Given the description of an element on the screen output the (x, y) to click on. 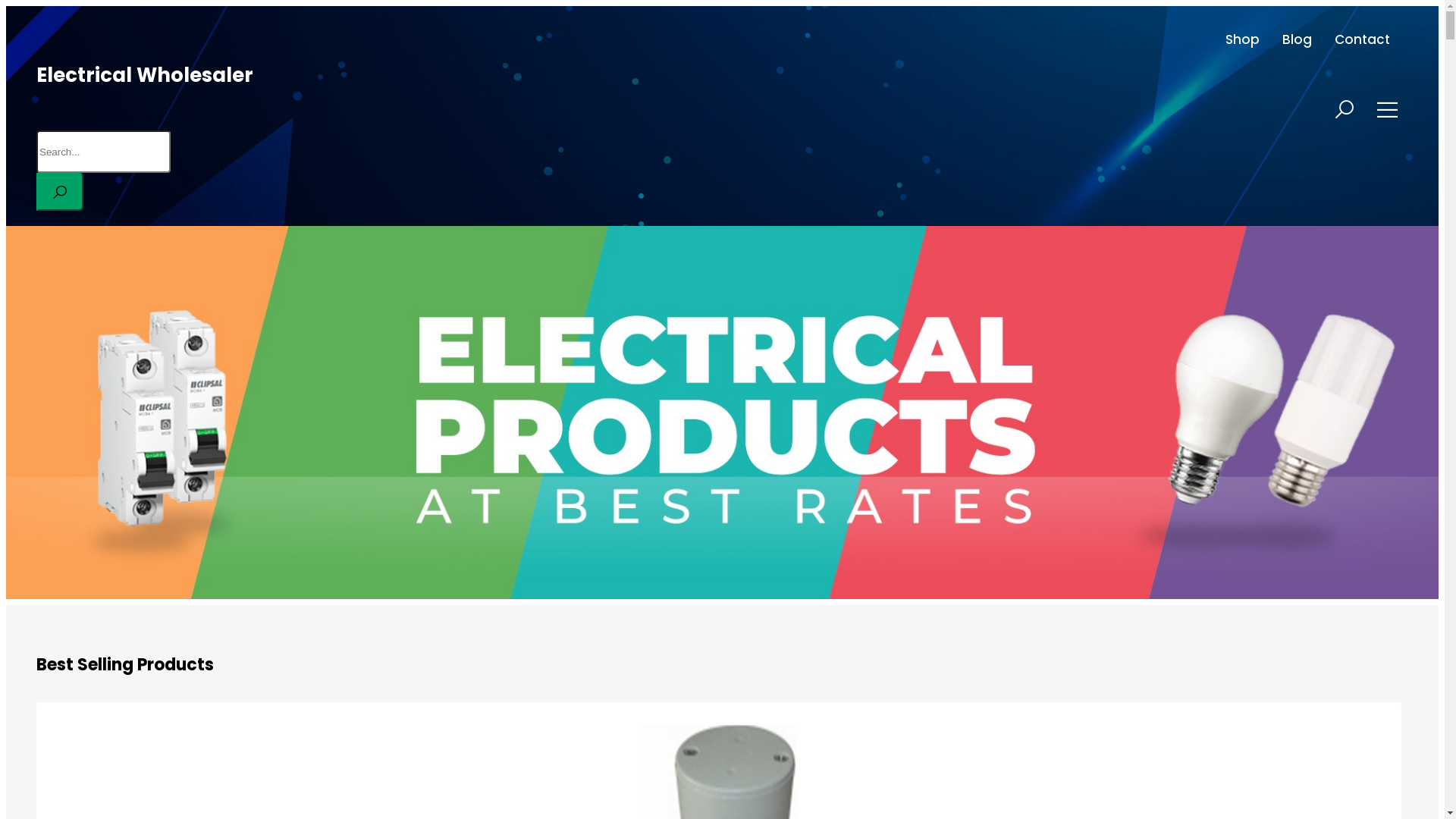
Electrical Wholesaler Element type: text (144, 74)
Contact Element type: text (1362, 39)
Shop Element type: text (1242, 39)
Blog Element type: text (1296, 39)
